Given the description of an element on the screen output the (x, y) to click on. 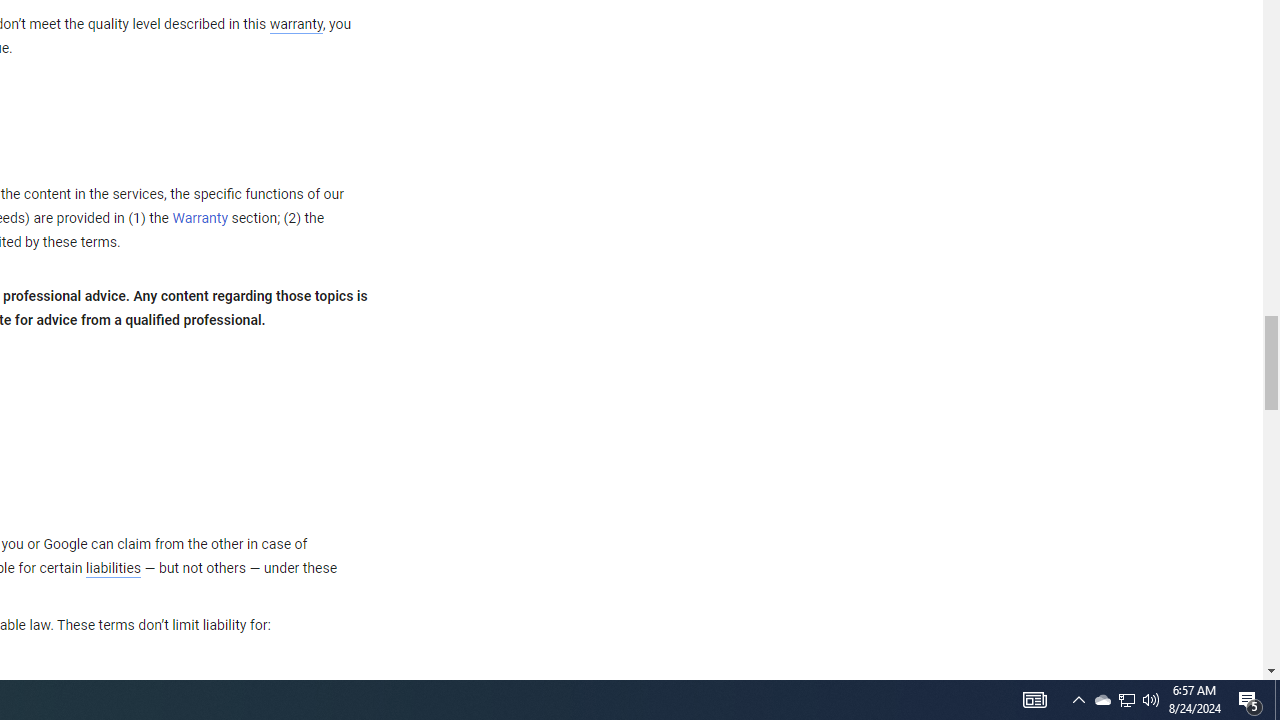
liabilities (113, 568)
Warranty (200, 219)
warranty (295, 25)
